Given the description of an element on the screen output the (x, y) to click on. 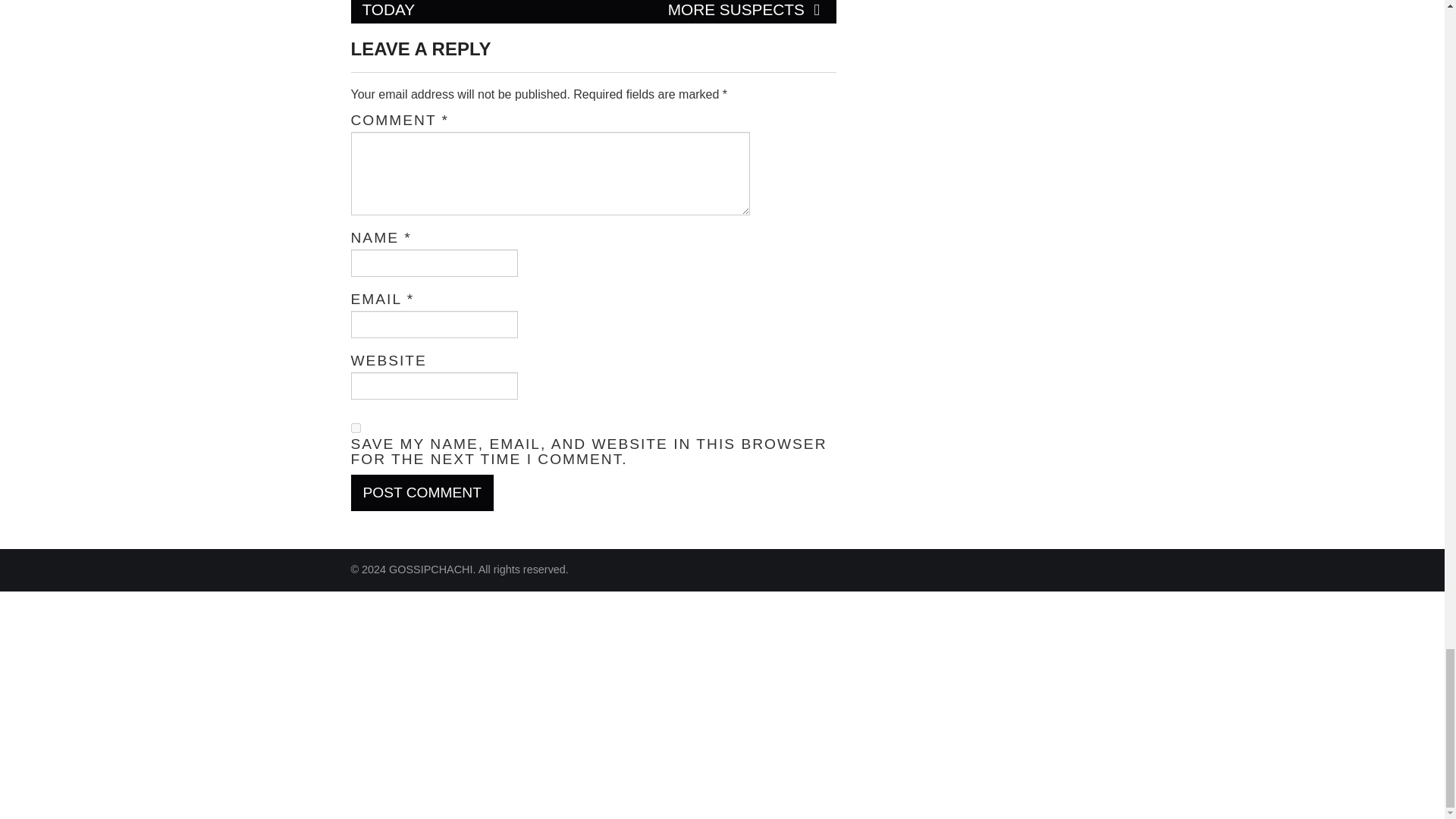
yes (354, 428)
Post Comment (421, 493)
Post Comment (421, 493)
